Given the description of an element on the screen output the (x, y) to click on. 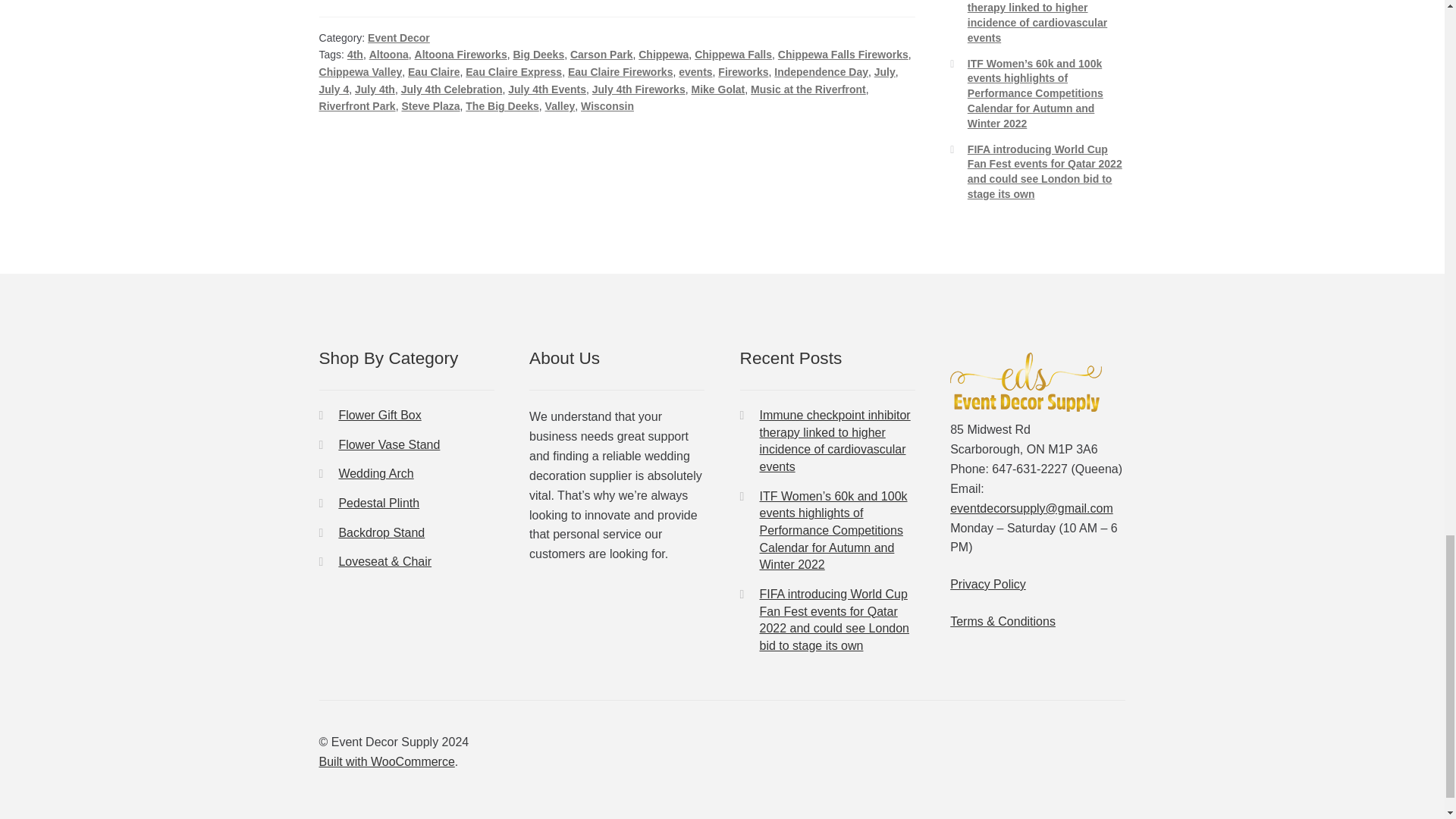
4th (354, 54)
Event Decor (398, 37)
Altoona (389, 54)
WooCommerce - The Best eCommerce Platform for WordPress (386, 761)
